Given the description of an element on the screen output the (x, y) to click on. 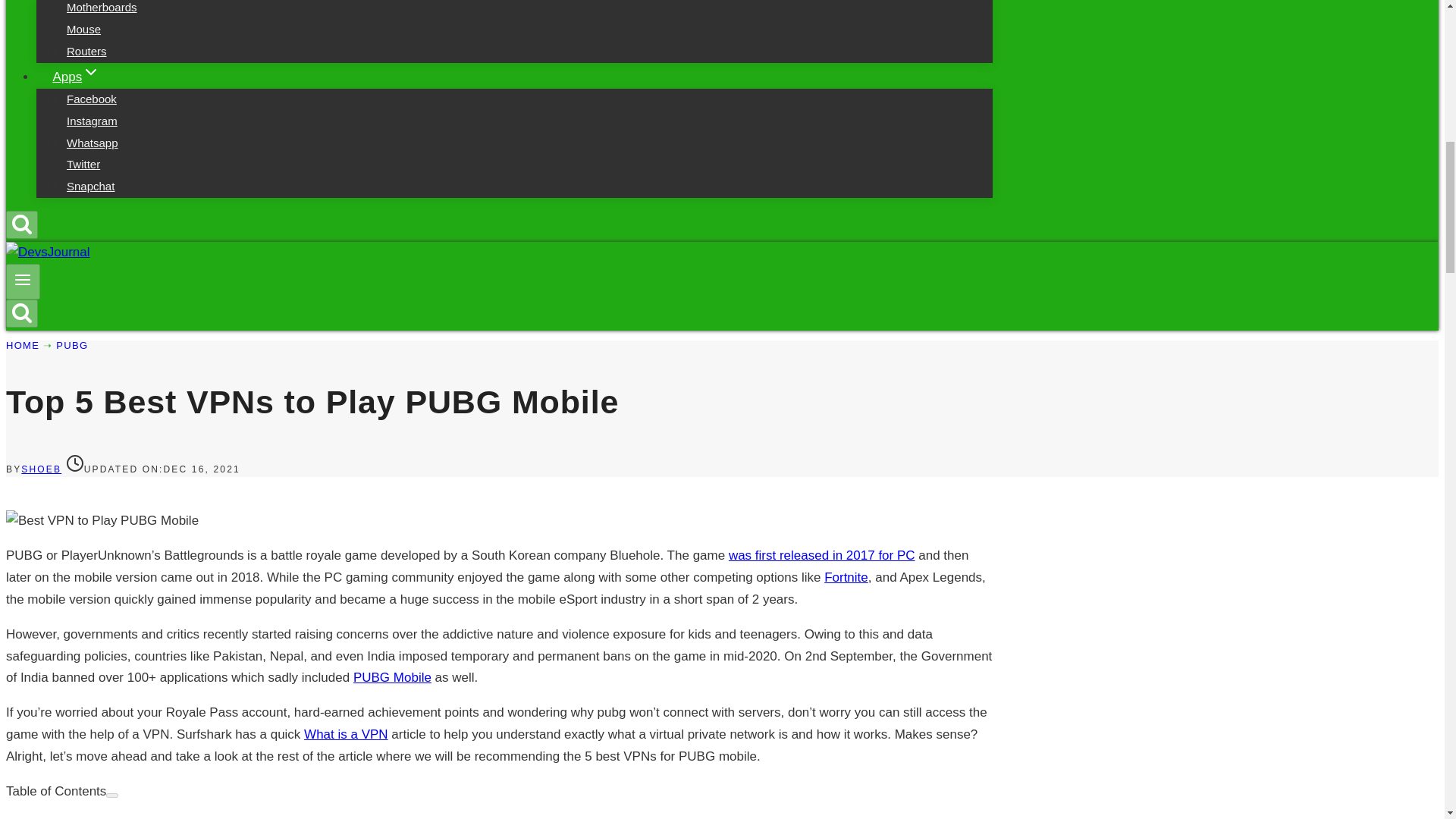
Routers (86, 50)
AppsExpand (76, 76)
Expand (90, 72)
Motherboards (101, 12)
Facebook (91, 99)
HOURS (74, 463)
Search (21, 223)
Mouse (83, 28)
Search (21, 312)
Toggle Menu (22, 280)
